Given the description of an element on the screen output the (x, y) to click on. 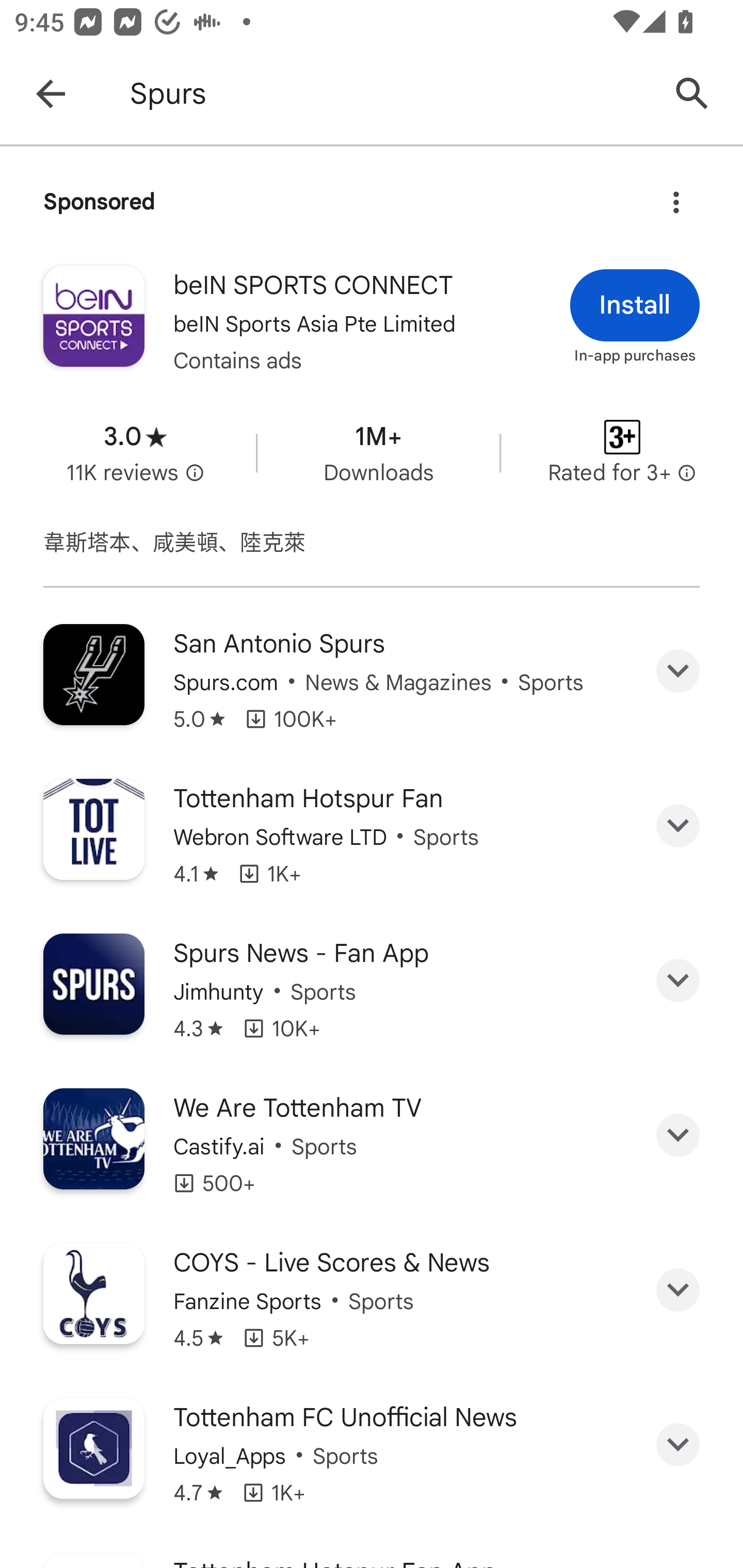
Spurs (389, 93)
Navigate up (50, 93)
Search Google Play (692, 93)
About this ad (676, 196)
Install (634, 304)
Average rating 3.0 stars in 11 thousand reviews (135, 453)
Downloaded 1 million plus times (378, 453)
Content rating Rated for 3+ (622, 453)
Expand content for San Antonio Spurs (677, 671)
Expand content for Tottenham Hotspur Fan (677, 825)
Expand content for Spurs News - Fan App (677, 980)
Expand content for We Are Tottenham TV (677, 1135)
Expand content for COYS - Live Scores & News (677, 1289)
Expand content for Tottenham FC Unofficial News (677, 1444)
